Given the description of an element on the screen output the (x, y) to click on. 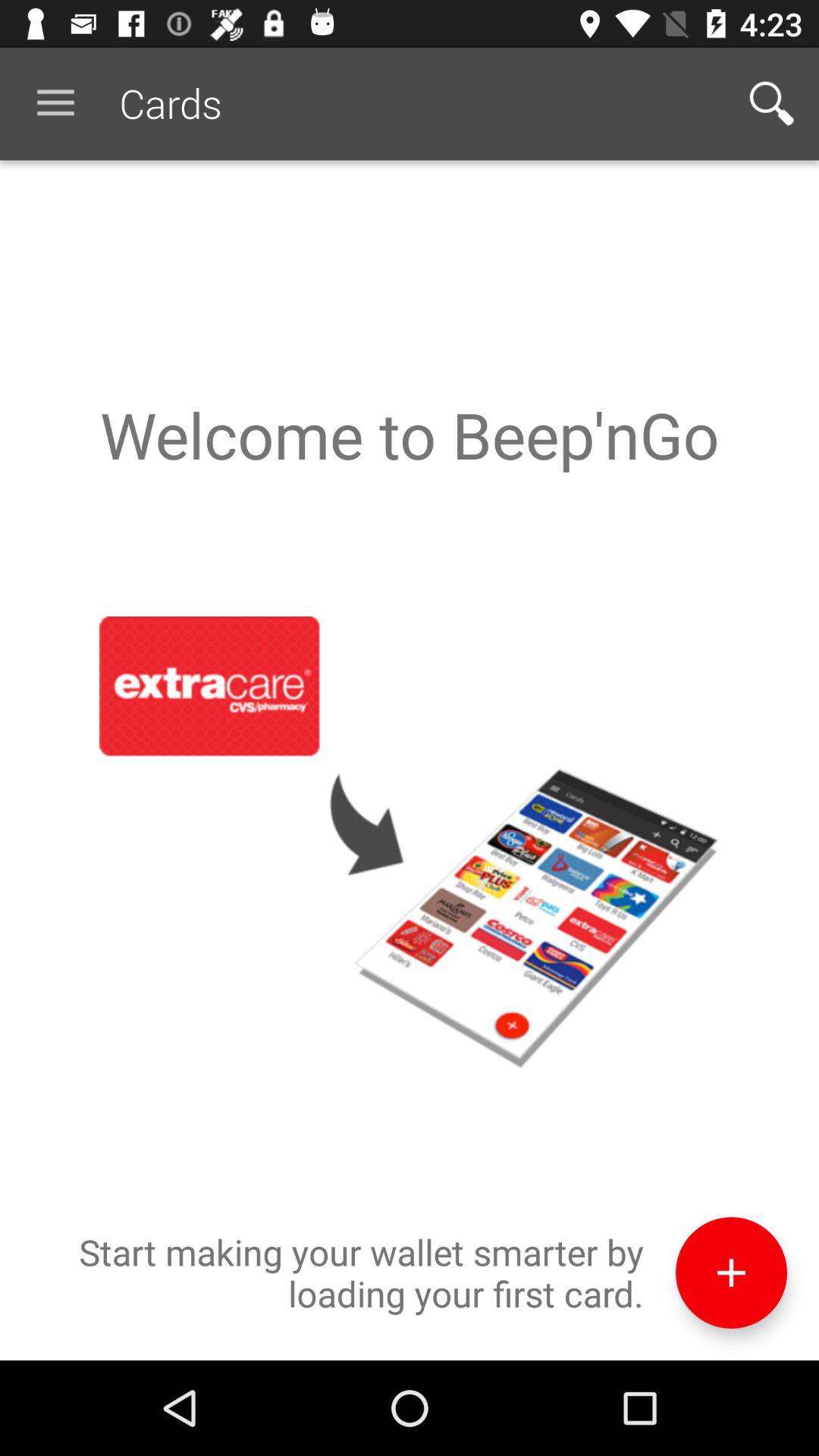
choose the icon to the left of the cards (55, 103)
